Given the description of an element on the screen output the (x, y) to click on. 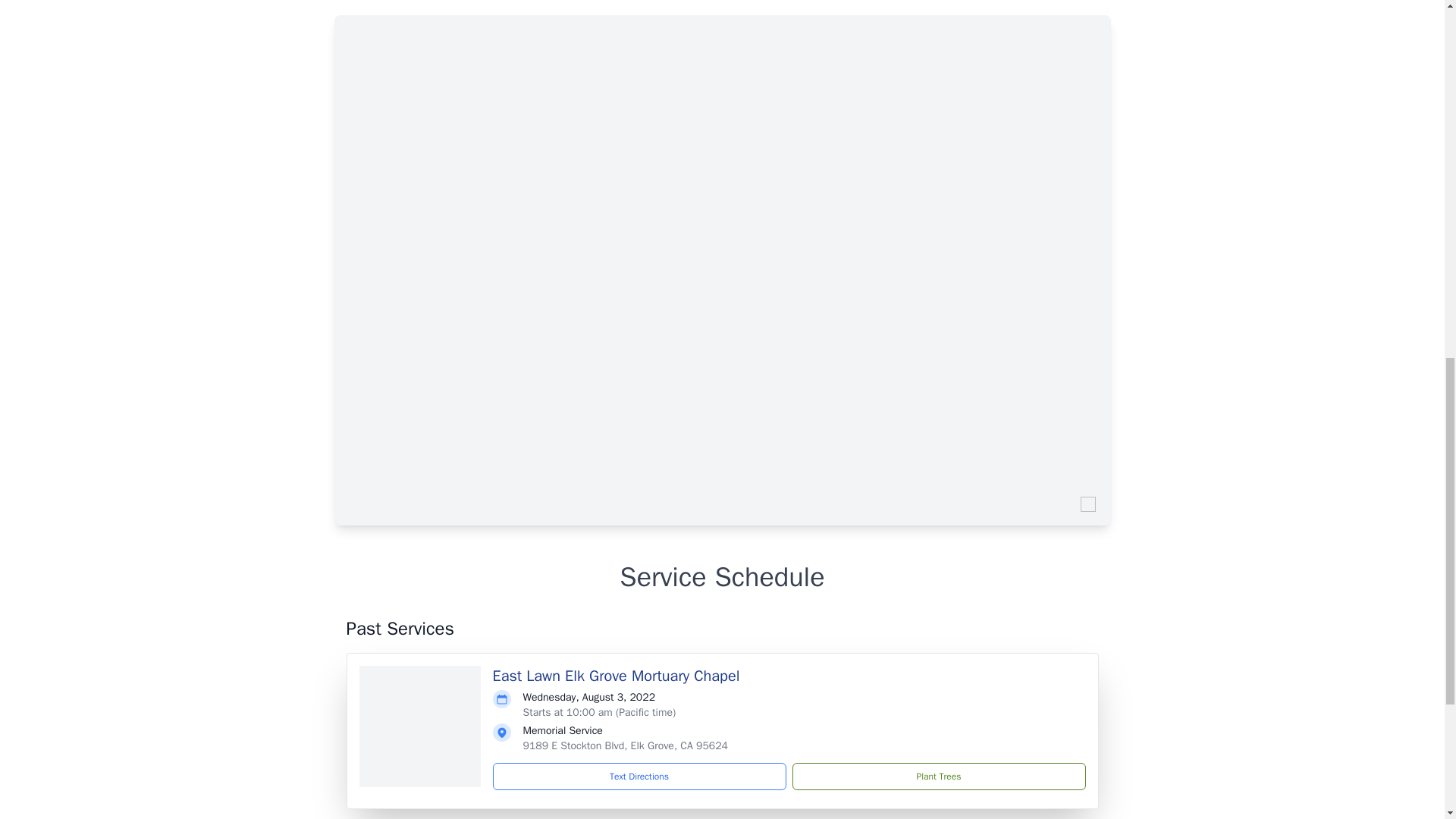
9189 E Stockton Blvd, Elk Grove, CA 95624 (625, 745)
Text Directions (639, 776)
Plant Trees (938, 776)
